Given the description of an element on the screen output the (x, y) to click on. 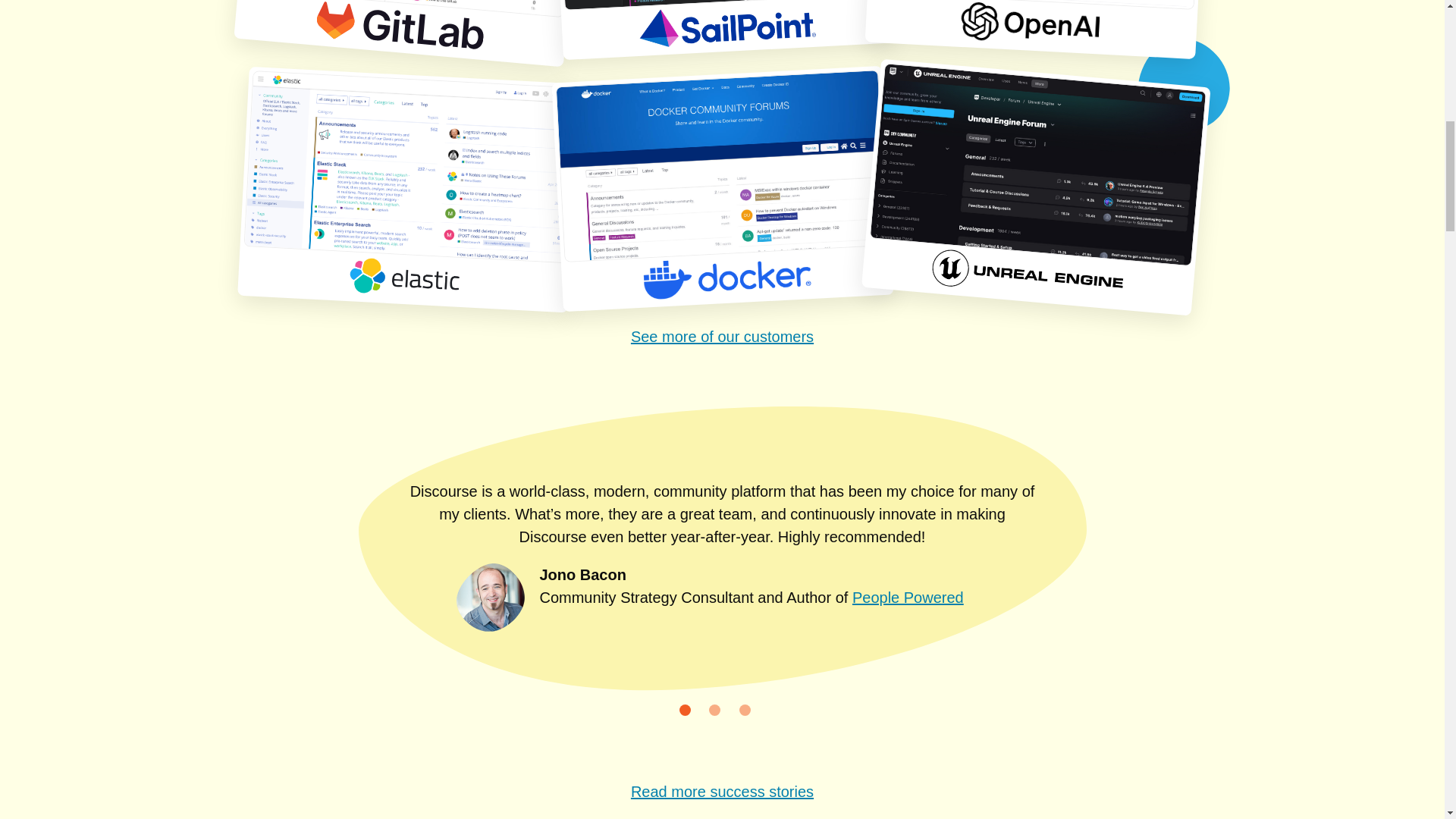
Read more success stories (721, 791)
People Powered (907, 597)
See more of our customers (721, 336)
